Given the description of an element on the screen output the (x, y) to click on. 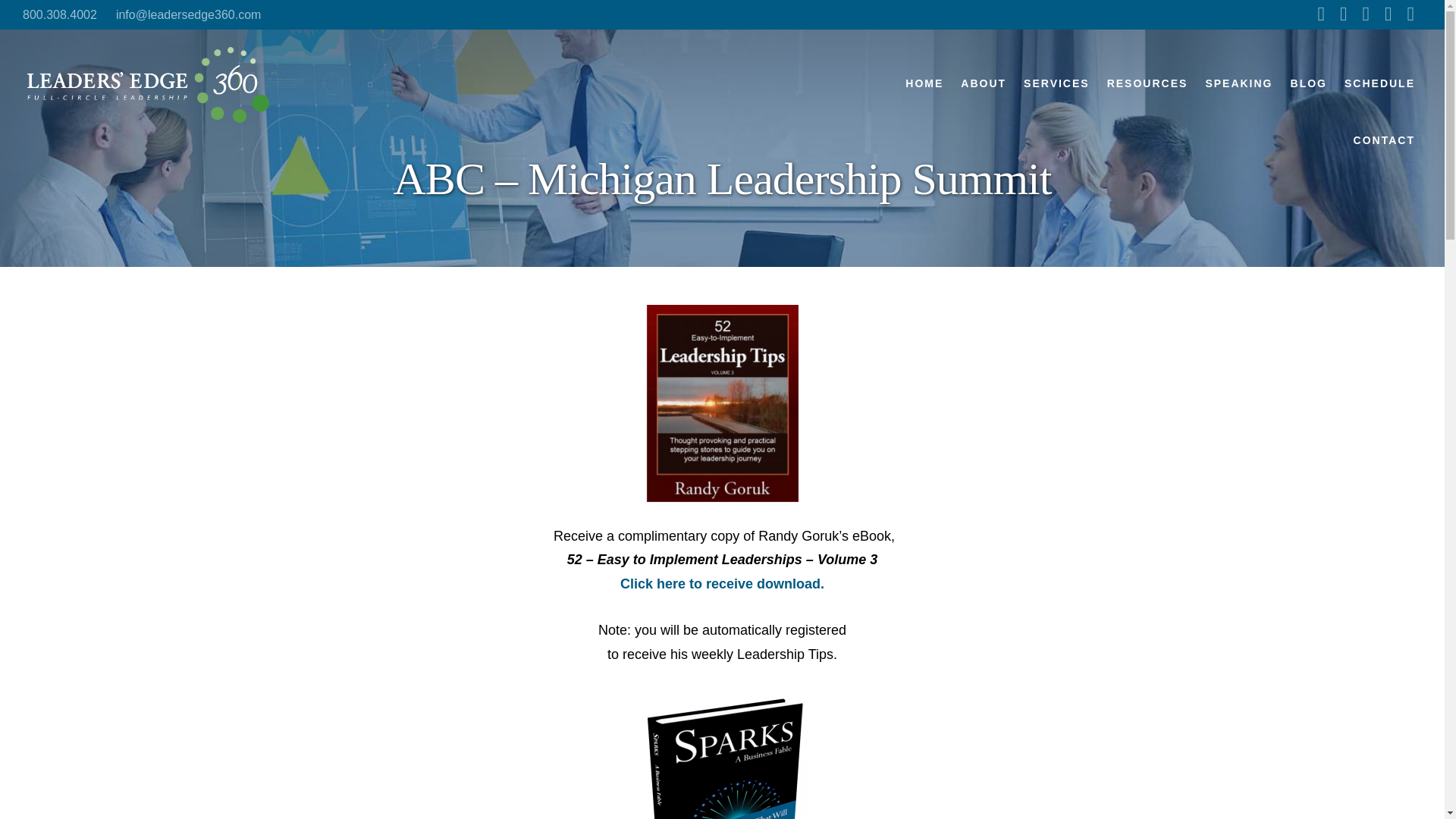
Call Us Now (60, 14)
LEADERS EDGE 360 (148, 84)
RESOURCES (1147, 83)
Email Us Now (188, 14)
HOME (924, 83)
About Leaders Edge 360 (983, 83)
ABOUT (983, 83)
800.308.4002 (60, 14)
SERVICES (1056, 83)
